Given the description of an element on the screen output the (x, y) to click on. 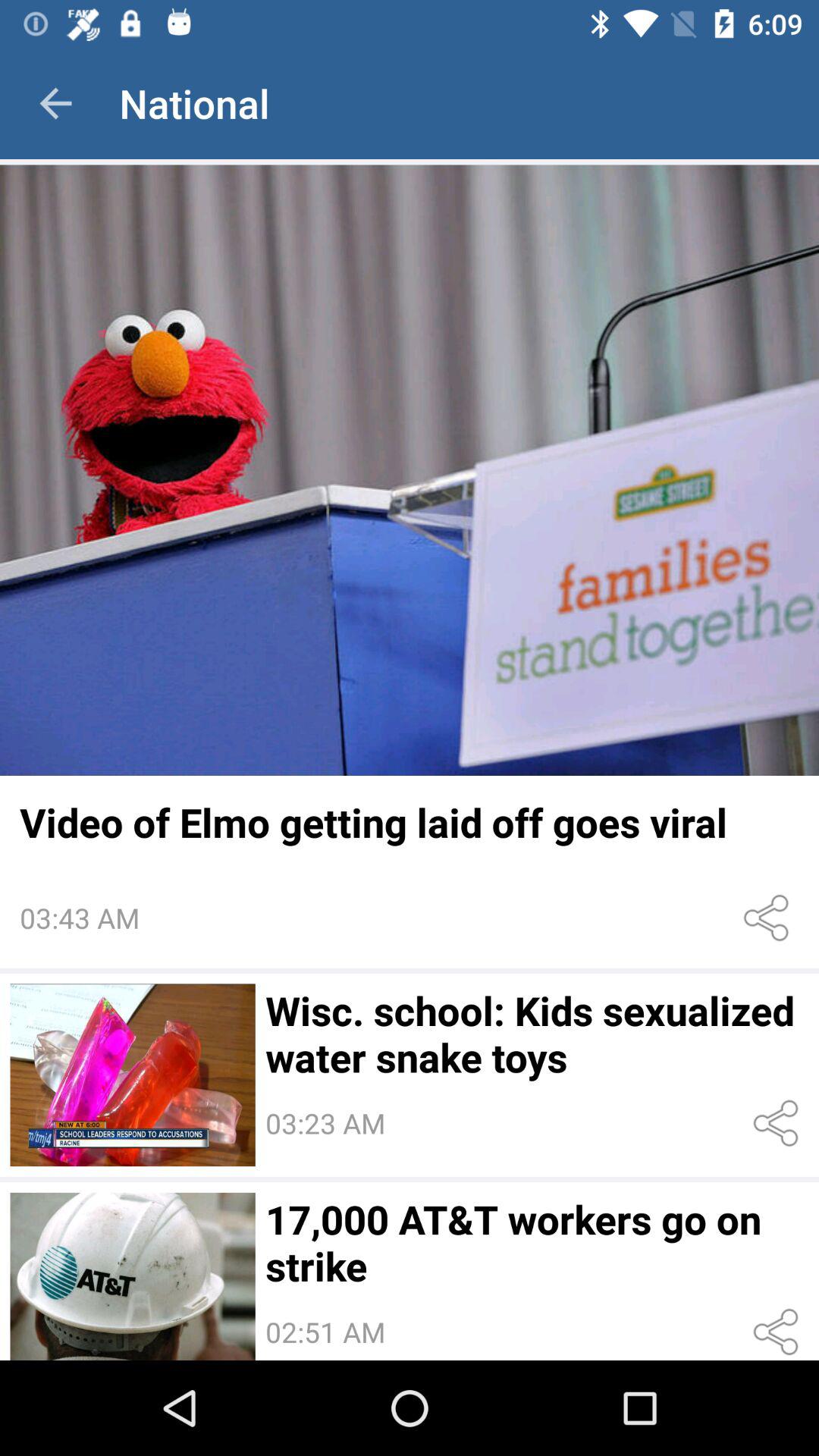
play video (409, 469)
